Given the description of an element on the screen output the (x, y) to click on. 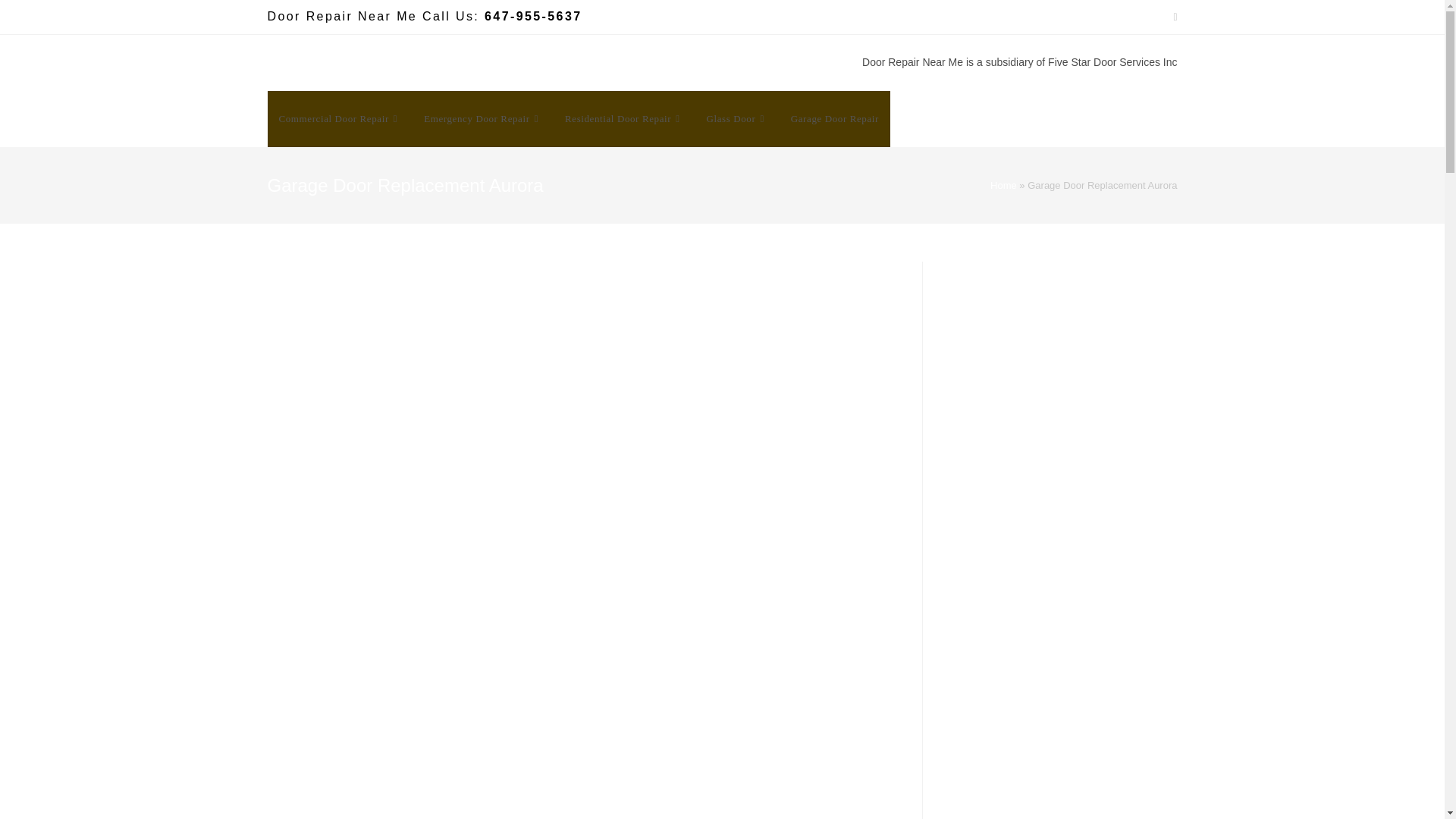
Commercial Door Repair (339, 118)
Residential Door Repair (624, 118)
Emergency Door Repair (482, 118)
647-955-5637 (532, 15)
Glass Door (736, 118)
Garage Door Repair (833, 118)
